Given the description of an element on the screen output the (x, y) to click on. 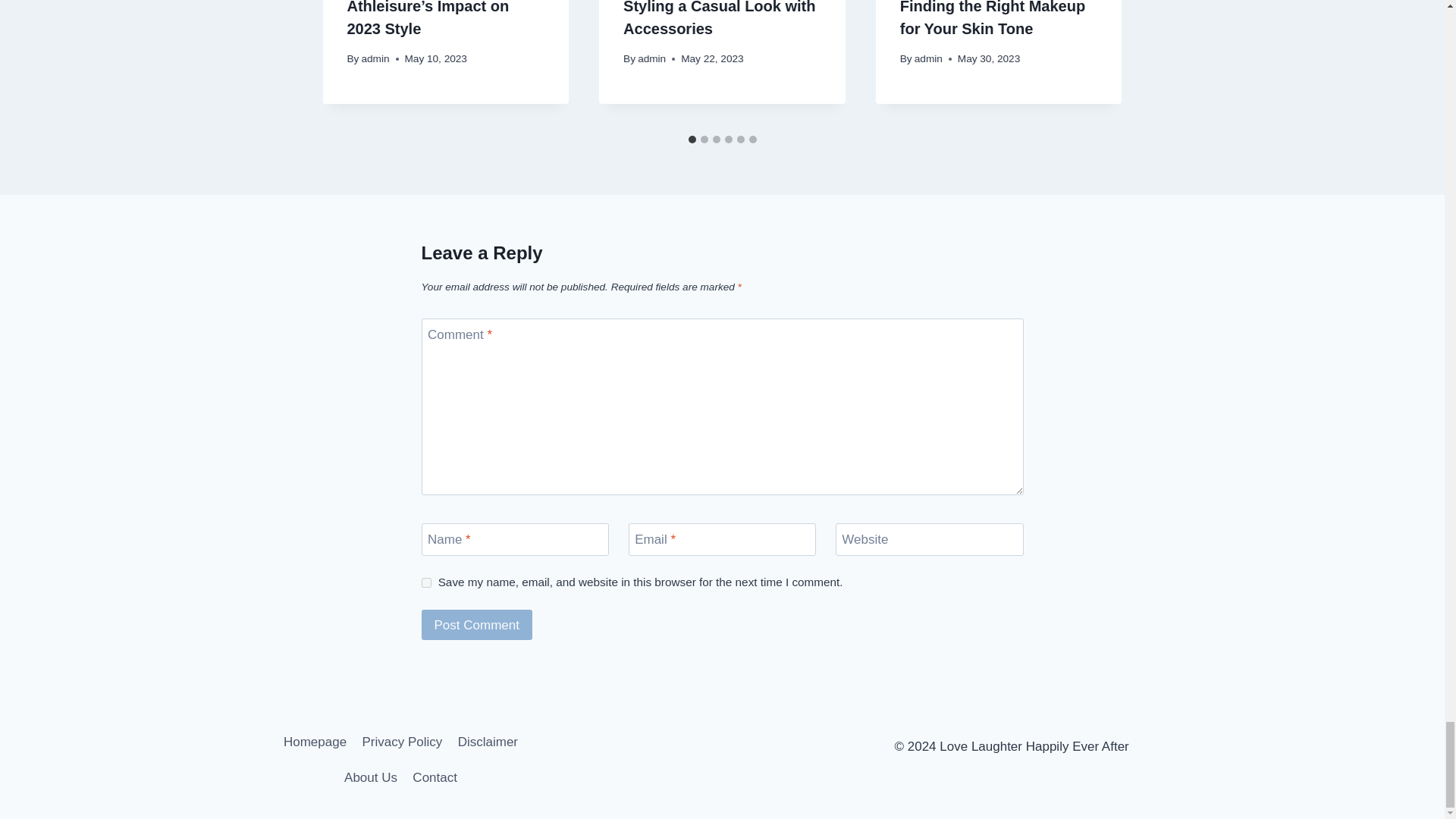
Post Comment (477, 624)
yes (426, 583)
